Given the description of an element on the screen output the (x, y) to click on. 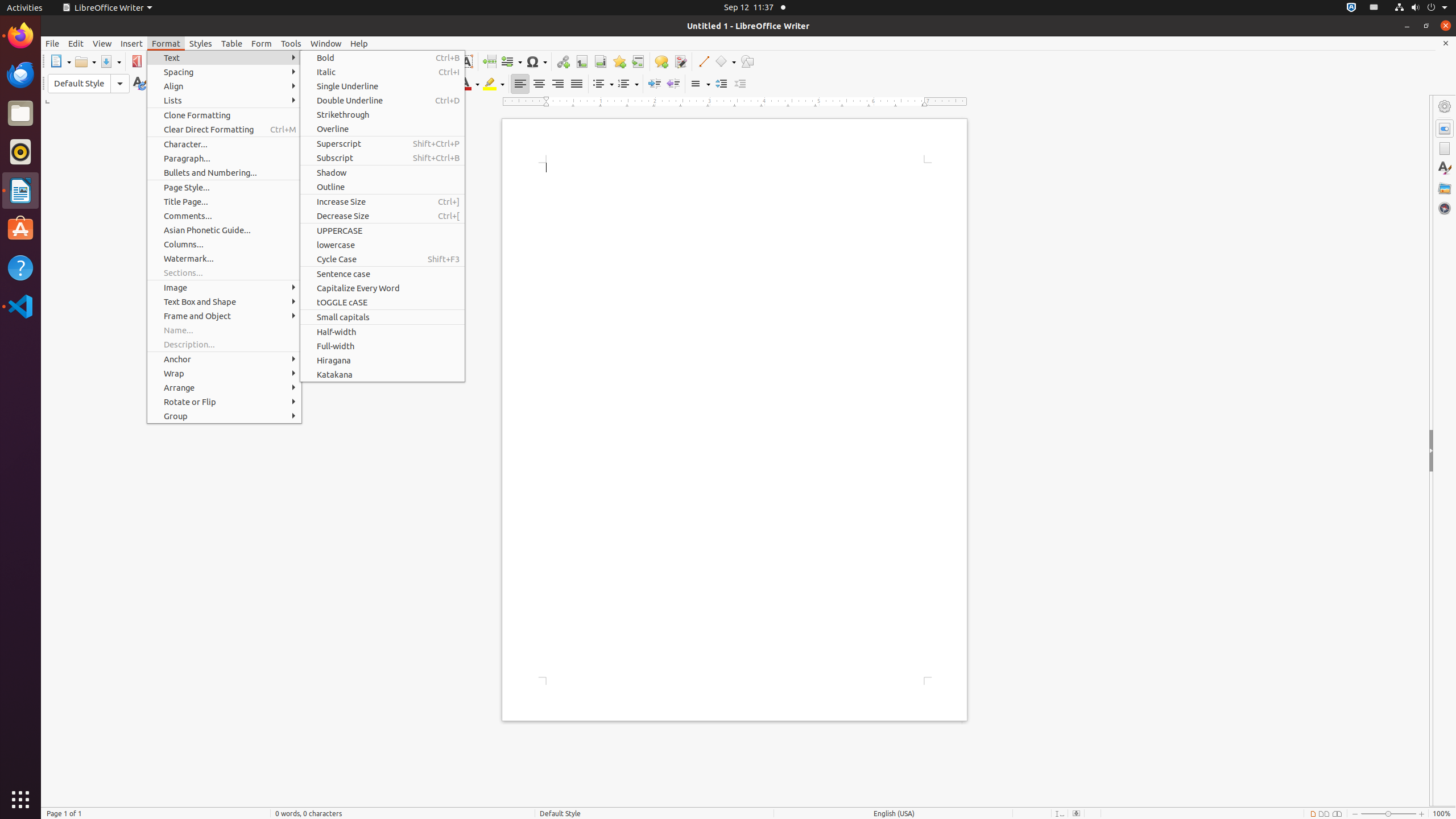
Cycle Case Element type: menu-item (382, 258)
Bullets Element type: push-button (602, 83)
Properties Element type: radio-button (1444, 128)
Left Element type: toggle-button (519, 83)
Window Element type: menu (325, 43)
